Given the description of an element on the screen output the (x, y) to click on. 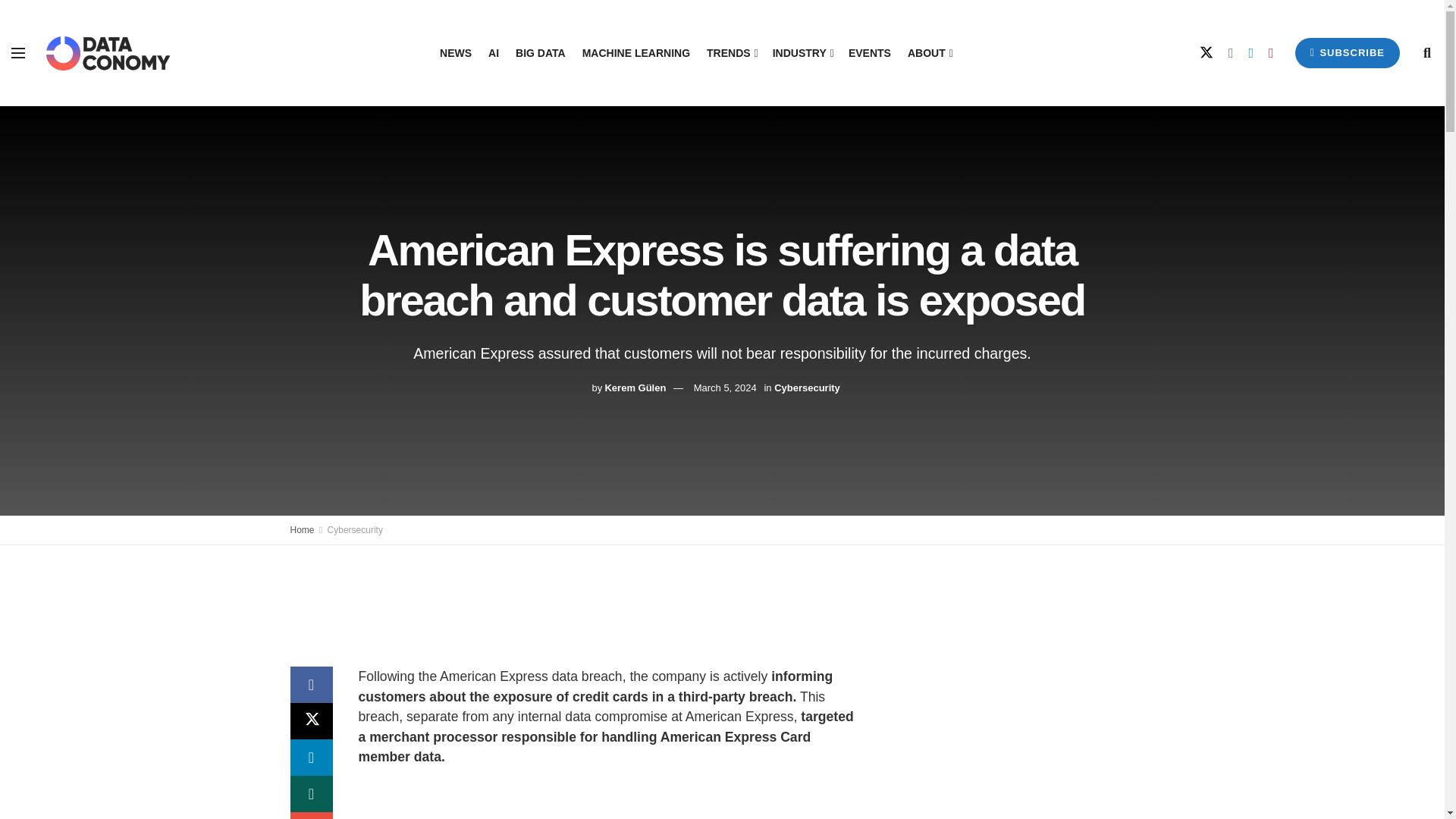
EVENTS (869, 52)
NEWS (455, 52)
BIG DATA (540, 52)
MACHINE LEARNING (636, 52)
INDUSTRY (802, 52)
TRENDS (730, 52)
ABOUT (928, 52)
SUBSCRIBE (1347, 52)
